Given the description of an element on the screen output the (x, y) to click on. 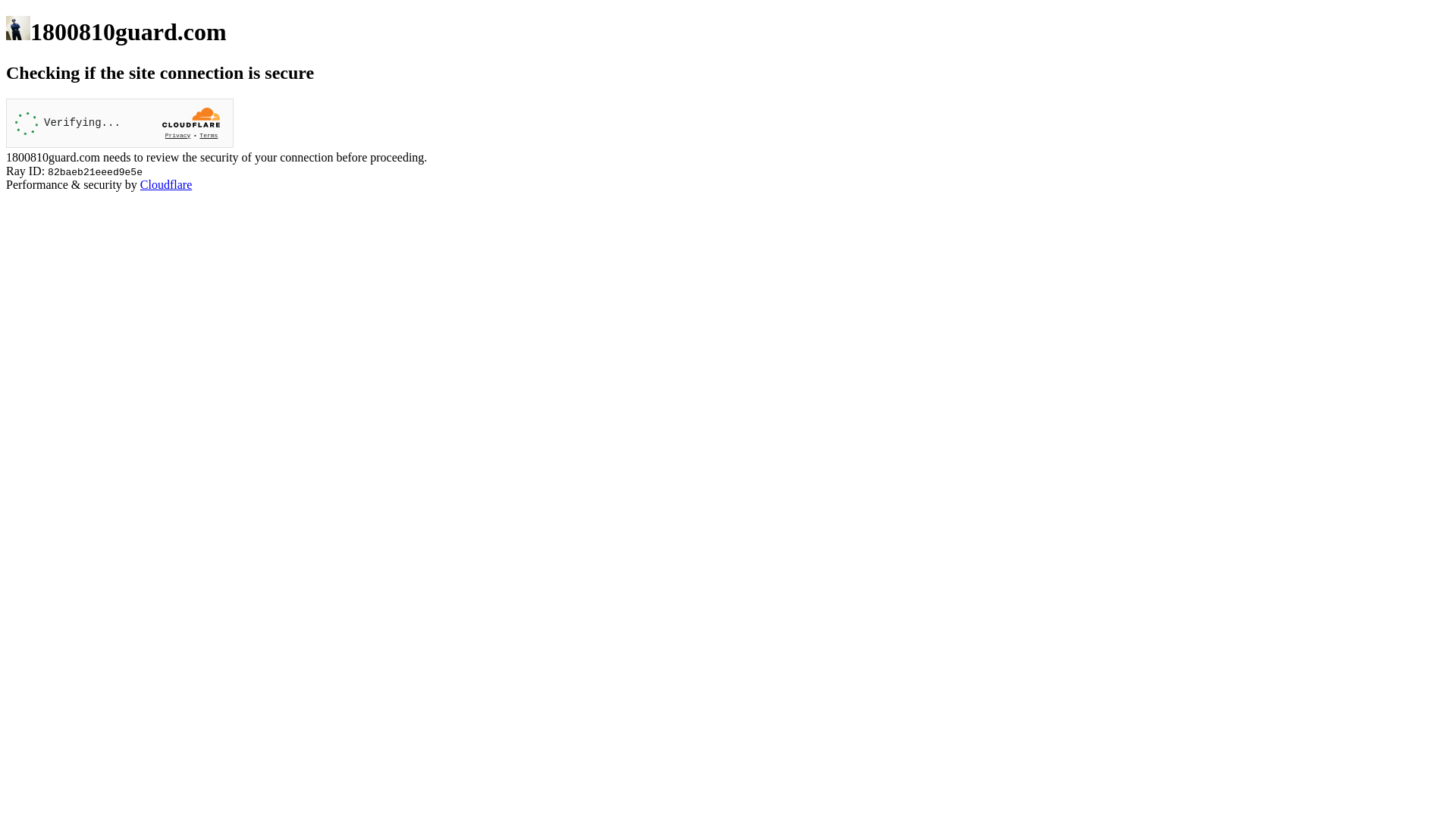
Cloudflare Element type: text (165, 184)
Widget containing a Cloudflare security challenge Element type: hover (119, 122)
